Given the description of an element on the screen output the (x, y) to click on. 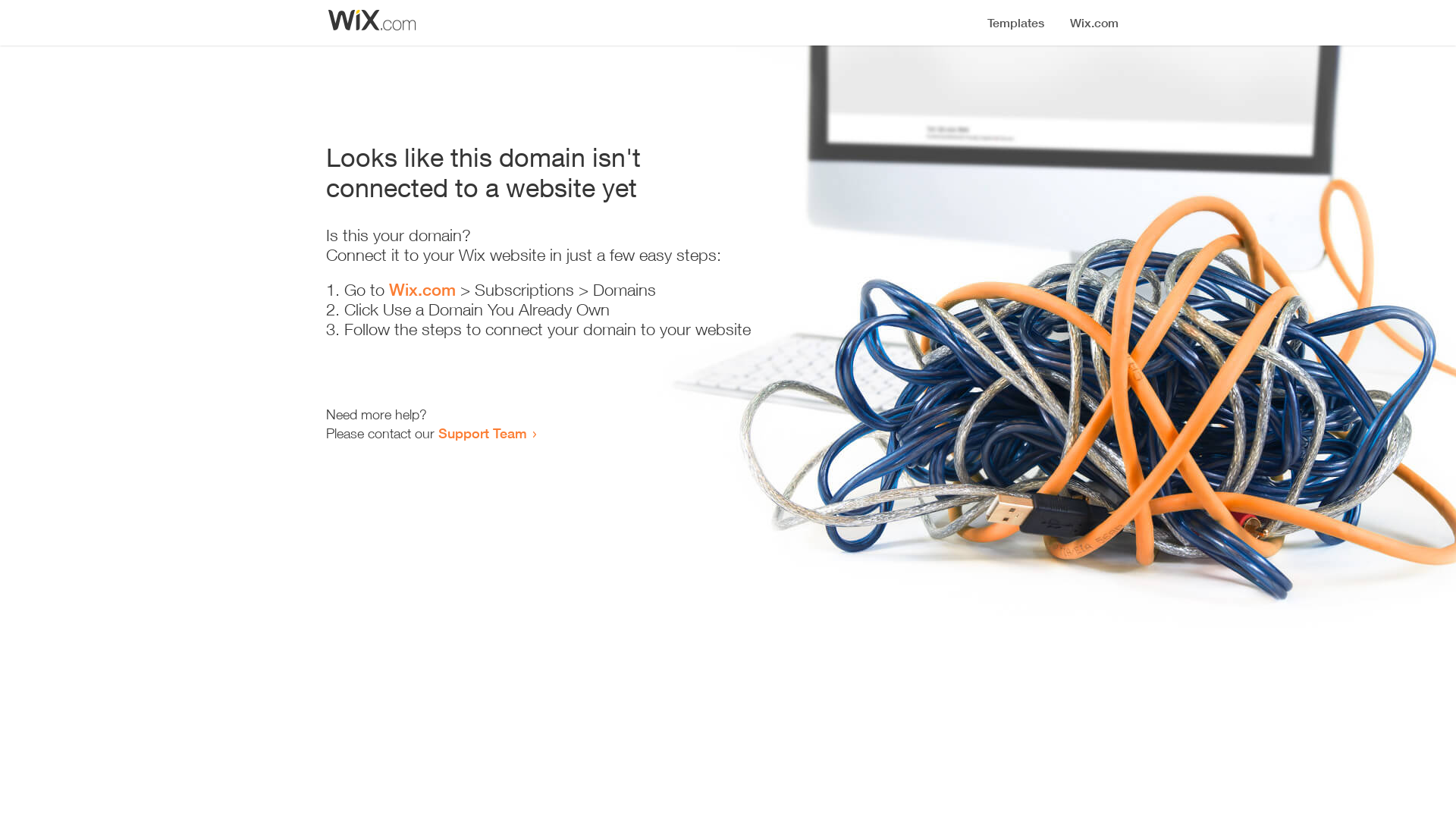
Support Team Element type: text (482, 432)
Wix.com Element type: text (422, 289)
